Given the description of an element on the screen output the (x, y) to click on. 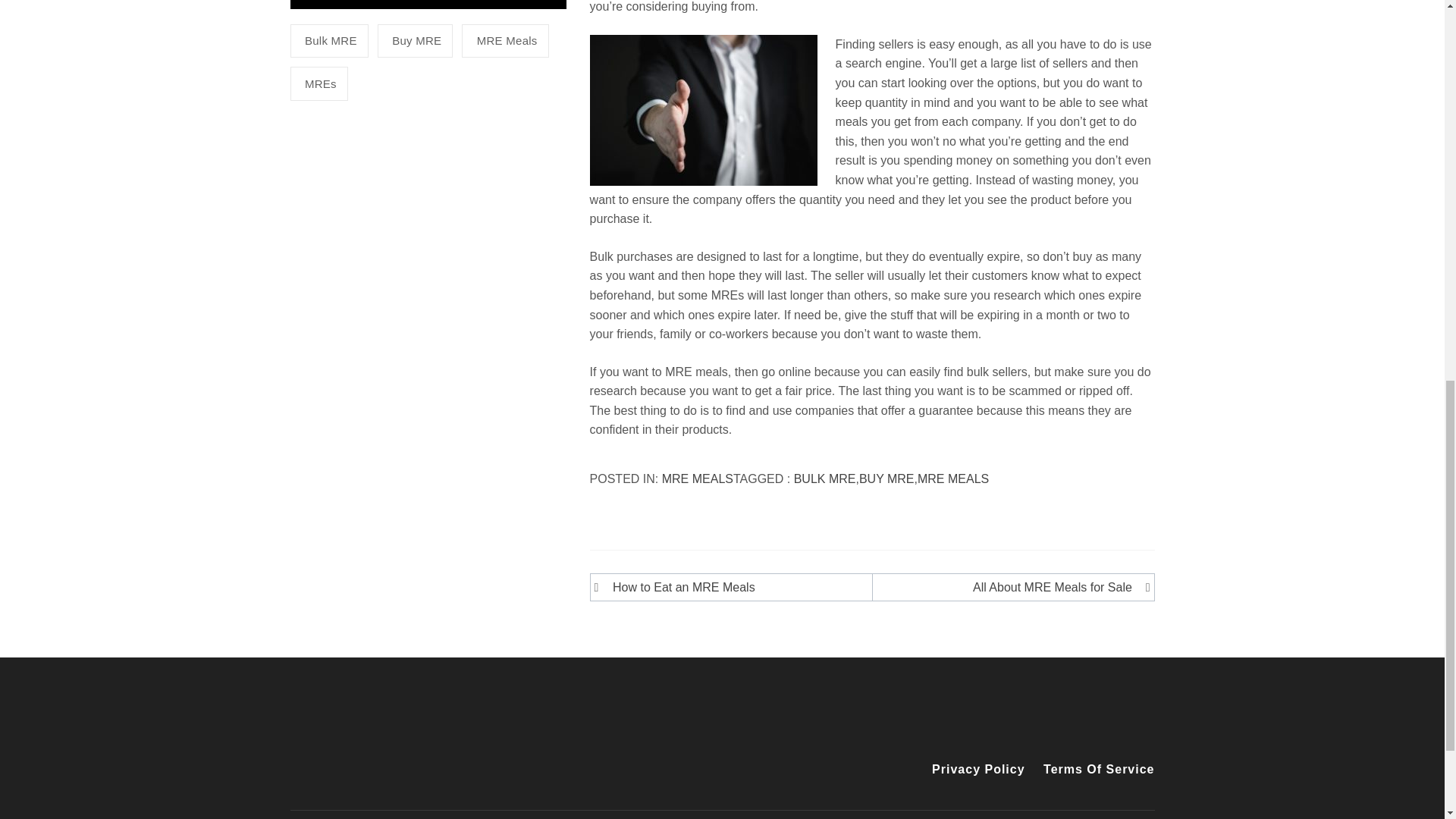
MRE MEALS (952, 478)
MREs (318, 83)
BUY MRE (886, 478)
Terms Of Service (1094, 769)
MRE Meals (504, 41)
Bulk MRE (328, 41)
BULK MRE (824, 478)
All About MRE Meals for Sale (1009, 587)
How to Eat an MRE Meals (734, 587)
MRE MEALS (697, 478)
Buy MRE (414, 41)
Privacy Policy (978, 769)
